Given the description of an element on the screen output the (x, y) to click on. 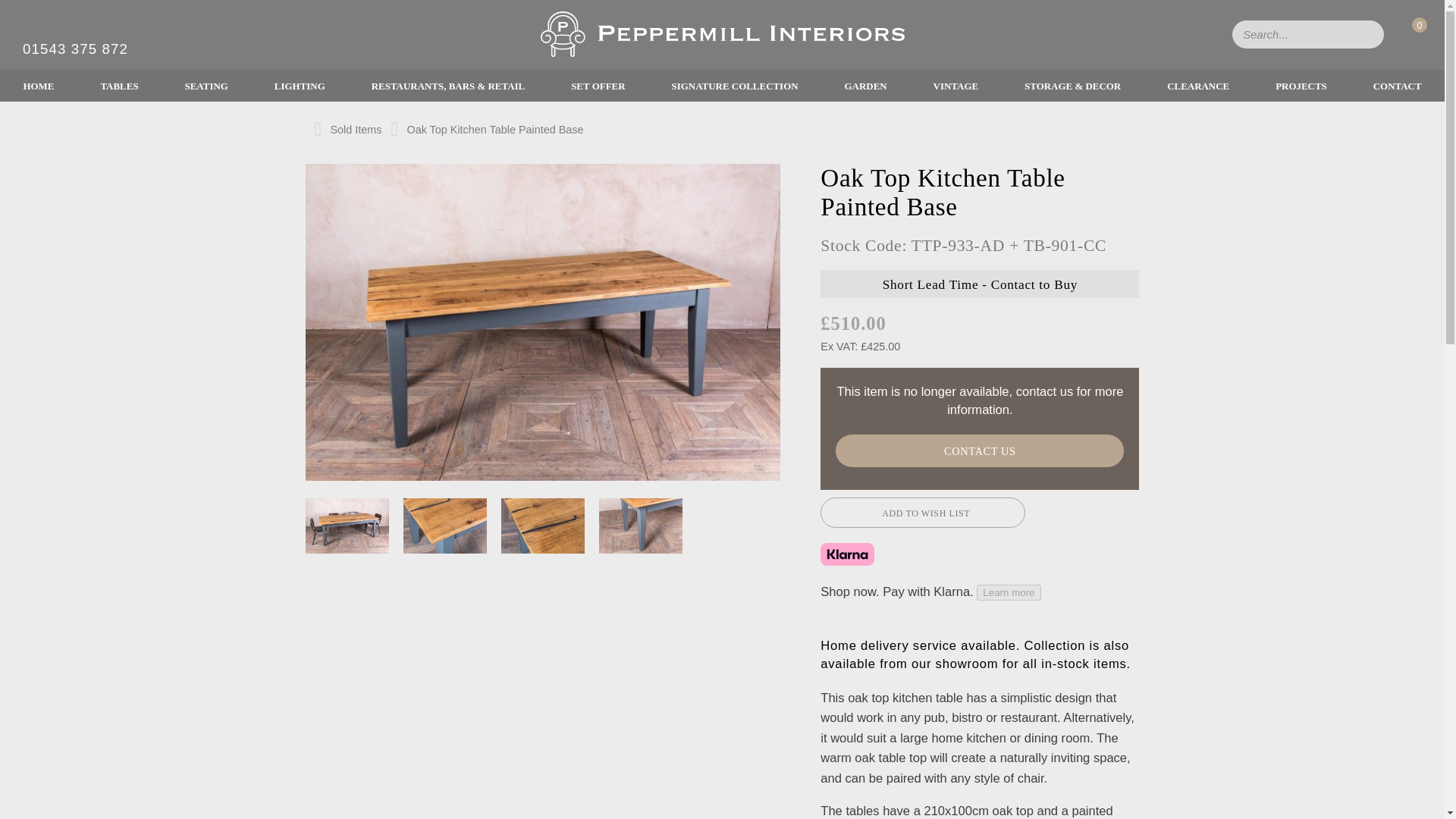
Kitchen Table and Chairs (346, 525)
01543 375 872 (75, 49)
Painted Dining Table (640, 525)
TABLES (119, 85)
SEATING (205, 85)
HOME (38, 85)
Dining Room Furniture (542, 525)
Oak and Pine Dining Table (444, 525)
Add to Wish List (923, 512)
Dining Room Furniture (542, 524)
Painted Dining Table (640, 524)
LIGHTING (298, 85)
Oak and Pine Dining Table (444, 524)
Kitchen Table and Chairs (346, 524)
